Given the description of an element on the screen output the (x, y) to click on. 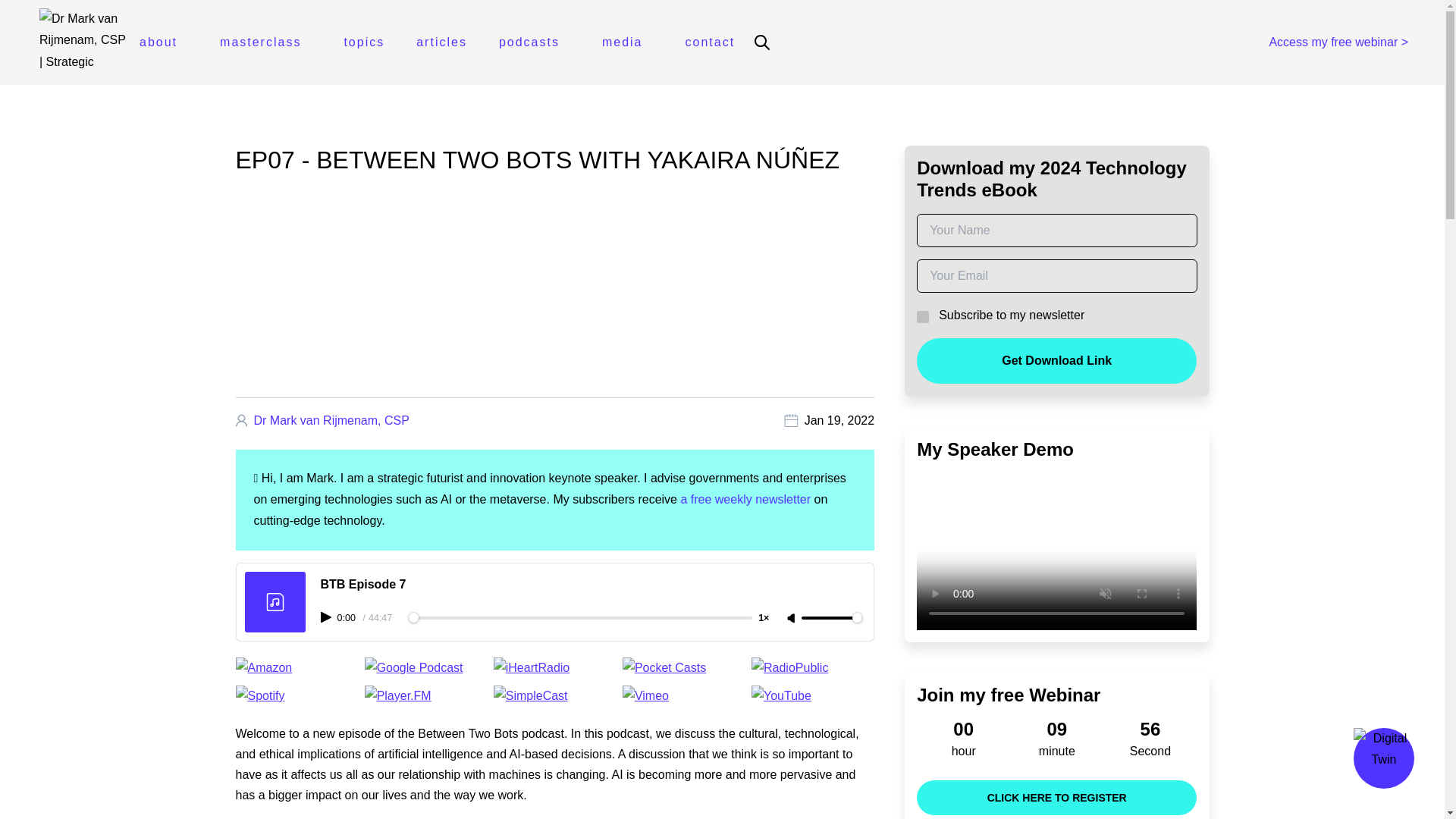
Player.FM (426, 695)
YouTube (813, 695)
Spotify (296, 695)
Google Podcast (426, 667)
Pocket Casts (684, 667)
Amazon (296, 667)
RadioPublic (813, 667)
No (921, 316)
100 (831, 617)
